Given the description of an element on the screen output the (x, y) to click on. 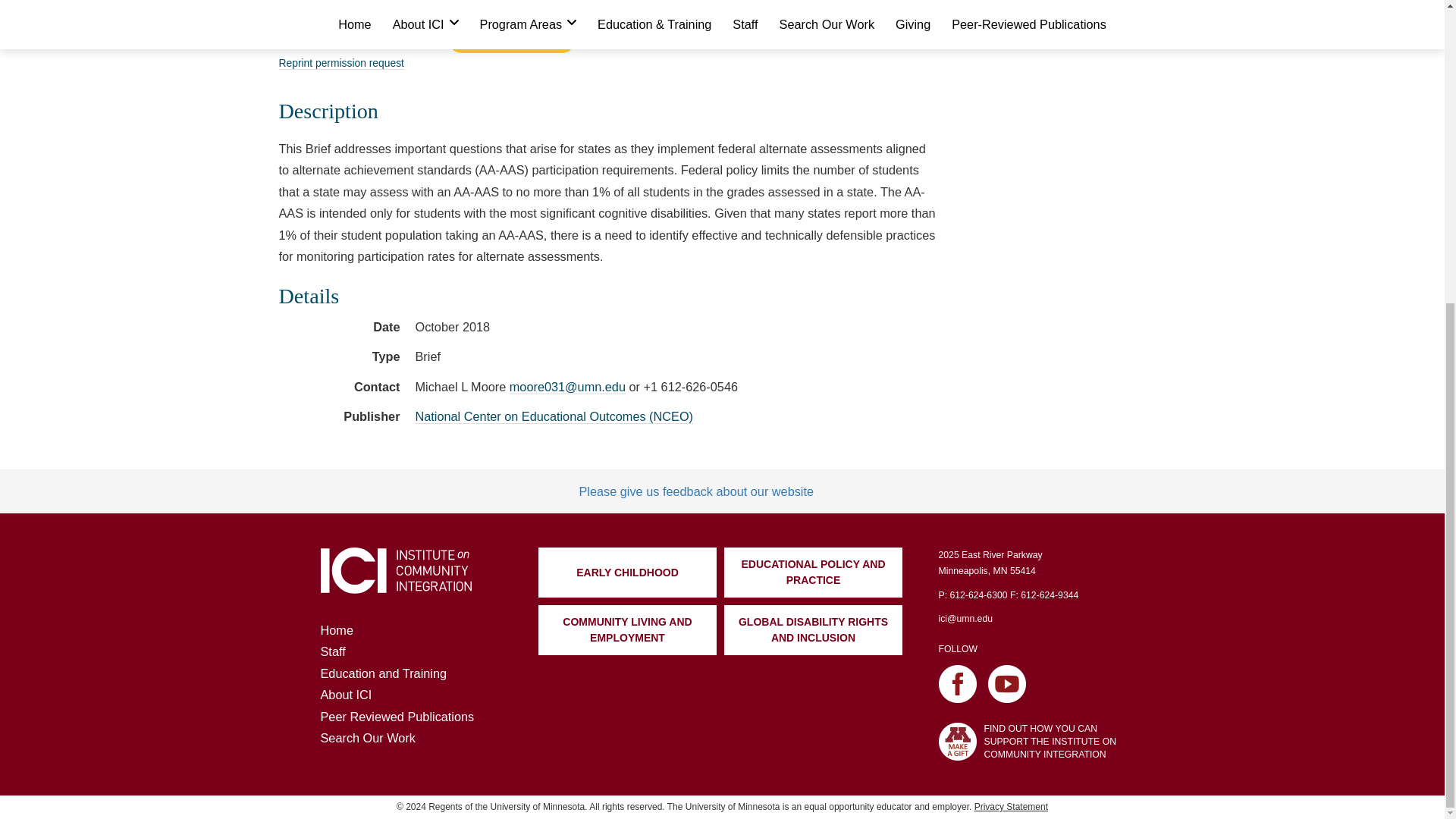
Search Our Work (367, 737)
Education and Training (383, 673)
Reprint permission request (341, 62)
Please give us feedback about our website (510, 26)
COMMUNITY LIVING AND EMPLOYMENT (696, 490)
Institute on Community Integration (627, 630)
Peer Reviewed Publications (395, 586)
Home (397, 716)
EDUCATIONAL POLICY AND PRACTICE (336, 630)
